Given the description of an element on the screen output the (x, y) to click on. 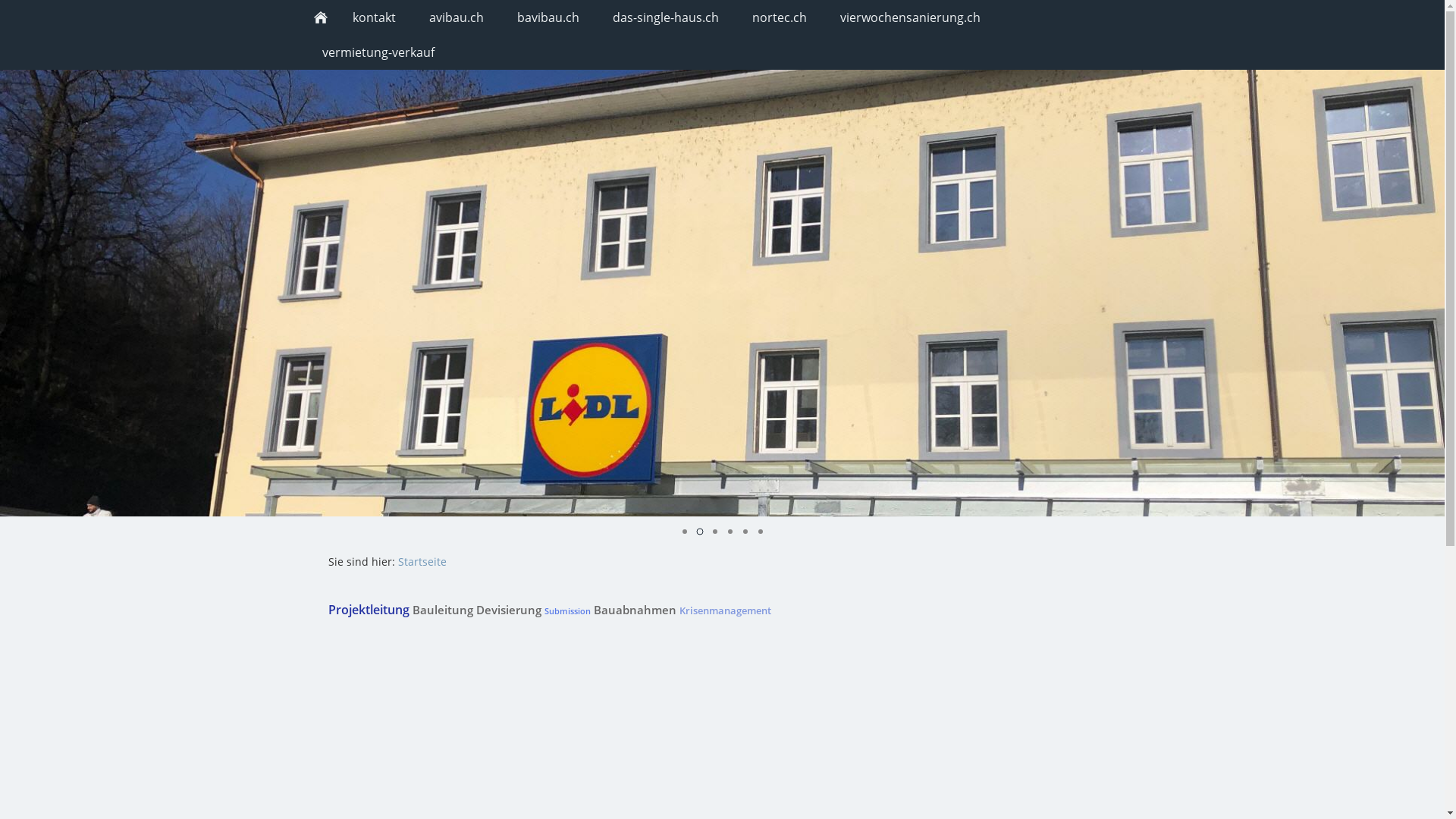
Startseite Element type: text (421, 561)
vermietung-verkauf Element type: text (377, 51)
bavibau.ch Element type: text (548, 17)
Bauleitung Element type: text (442, 609)
Devisierung Element type: text (508, 609)
Krisenmanagement Element type: text (725, 610)
das-single-haus.ch Element type: text (665, 17)
Submission Element type: text (567, 610)
avibau.ch Element type: text (456, 17)
nortec.ch Element type: text (779, 17)
Bauabnahmen Element type: text (634, 609)
vierwochensanierung.ch Element type: text (910, 17)
kontakt Element type: text (373, 17)
Projektleitung Element type: text (367, 609)
